Given the description of an element on the screen output the (x, y) to click on. 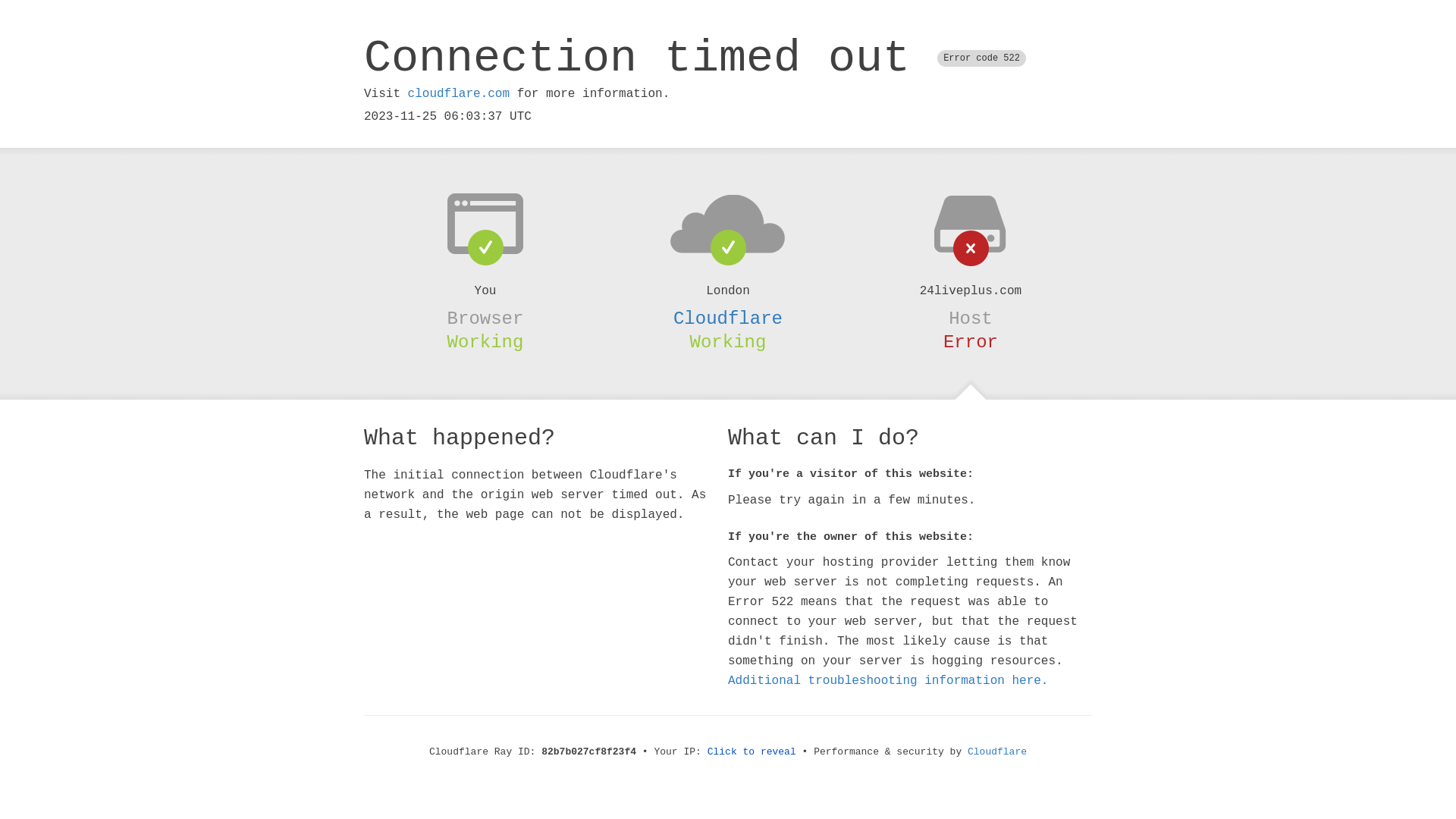
Cloudflare Element type: text (996, 751)
Cloudflare Element type: text (727, 318)
Click to reveal Element type: text (751, 751)
cloudflare.com Element type: text (458, 93)
Additional troubleshooting information here. Element type: text (888, 680)
